Given the description of an element on the screen output the (x, y) to click on. 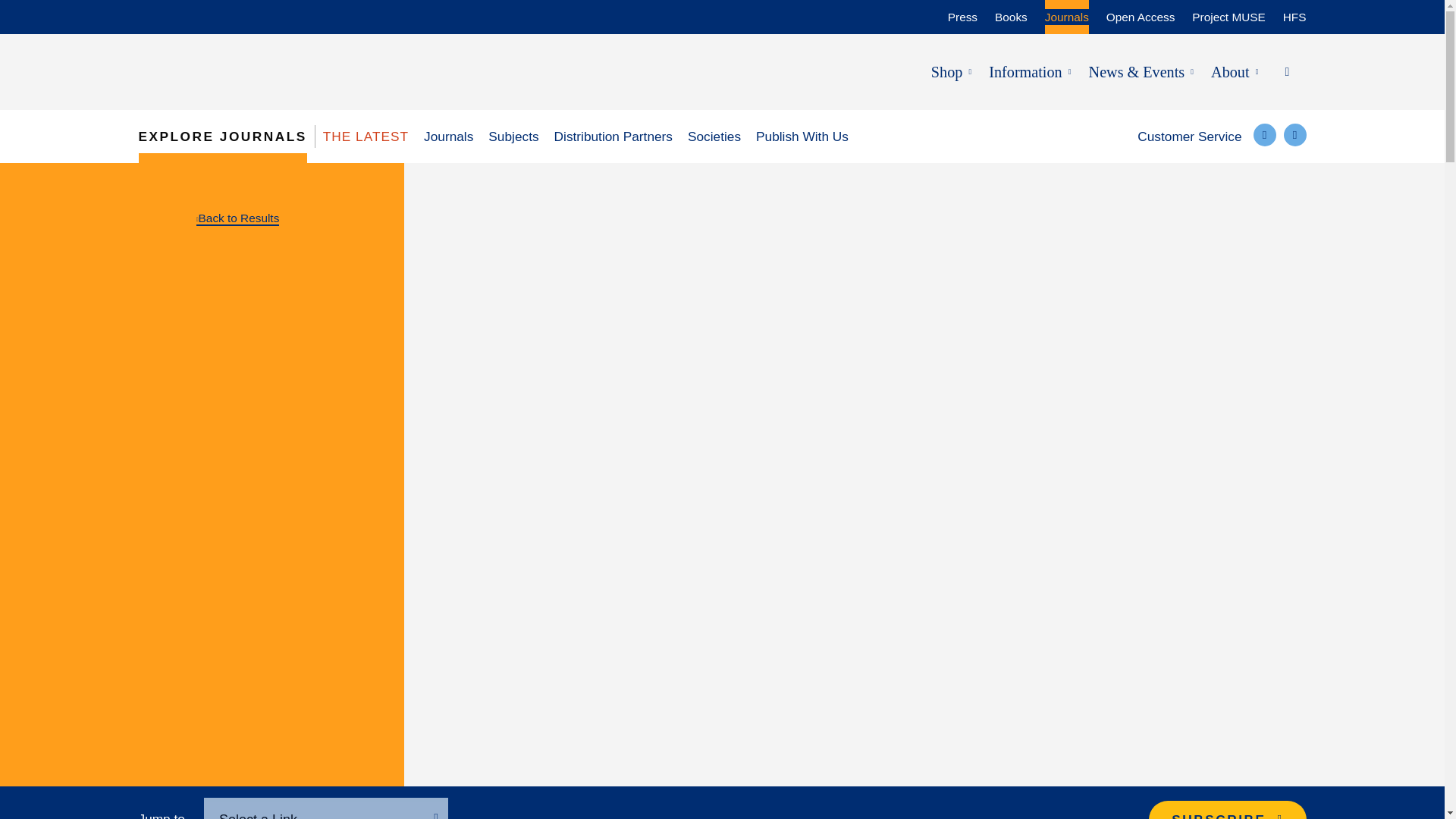
Shop (946, 71)
Books (1010, 12)
Open Access (1140, 12)
Press (961, 12)
Journals (1067, 12)
HFS (1294, 12)
Project MUSE (1228, 12)
About (1230, 71)
Information (1024, 71)
JHU Press (237, 71)
